Given the description of an element on the screen output the (x, y) to click on. 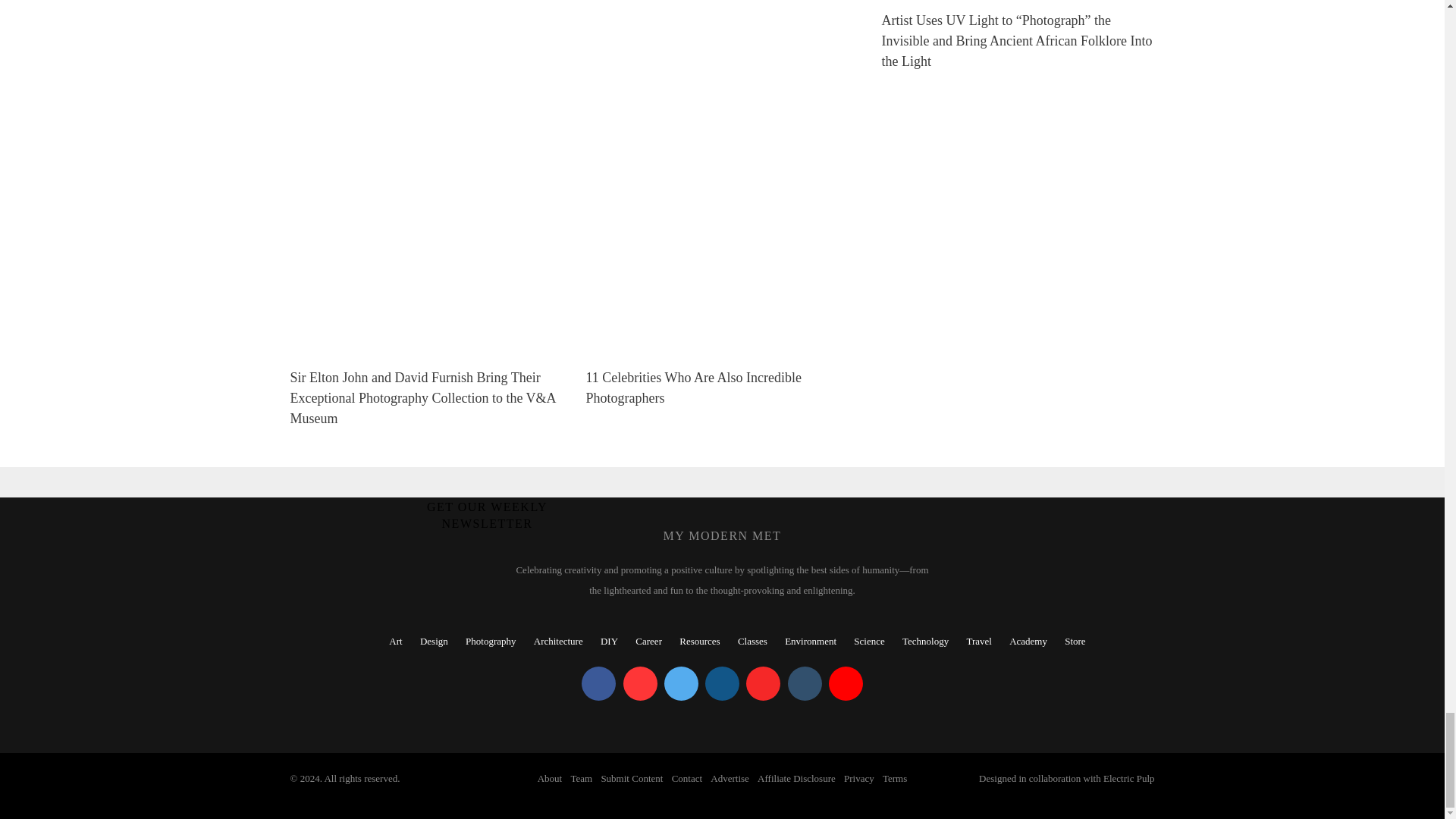
My Modern Met on YouTube (845, 683)
My Modern Met on Facebook (597, 683)
My Modern Met on Tumblr (804, 683)
My Modern Met on Twitter (680, 683)
My Modern Met on Pinterest (640, 683)
My Modern Met on Instagram (721, 683)
